Given the description of an element on the screen output the (x, y) to click on. 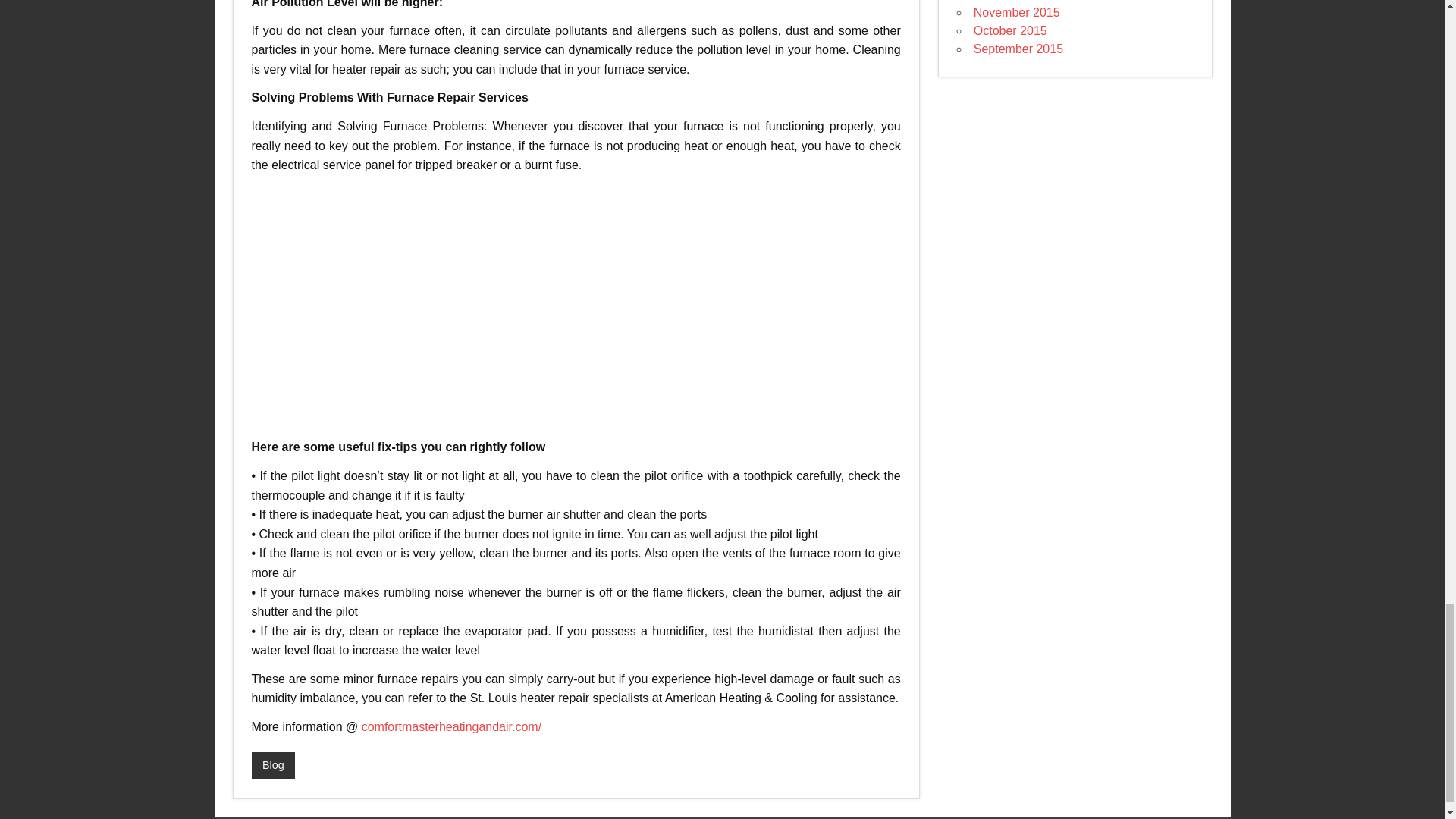
Blog (273, 765)
